Given the description of an element on the screen output the (x, y) to click on. 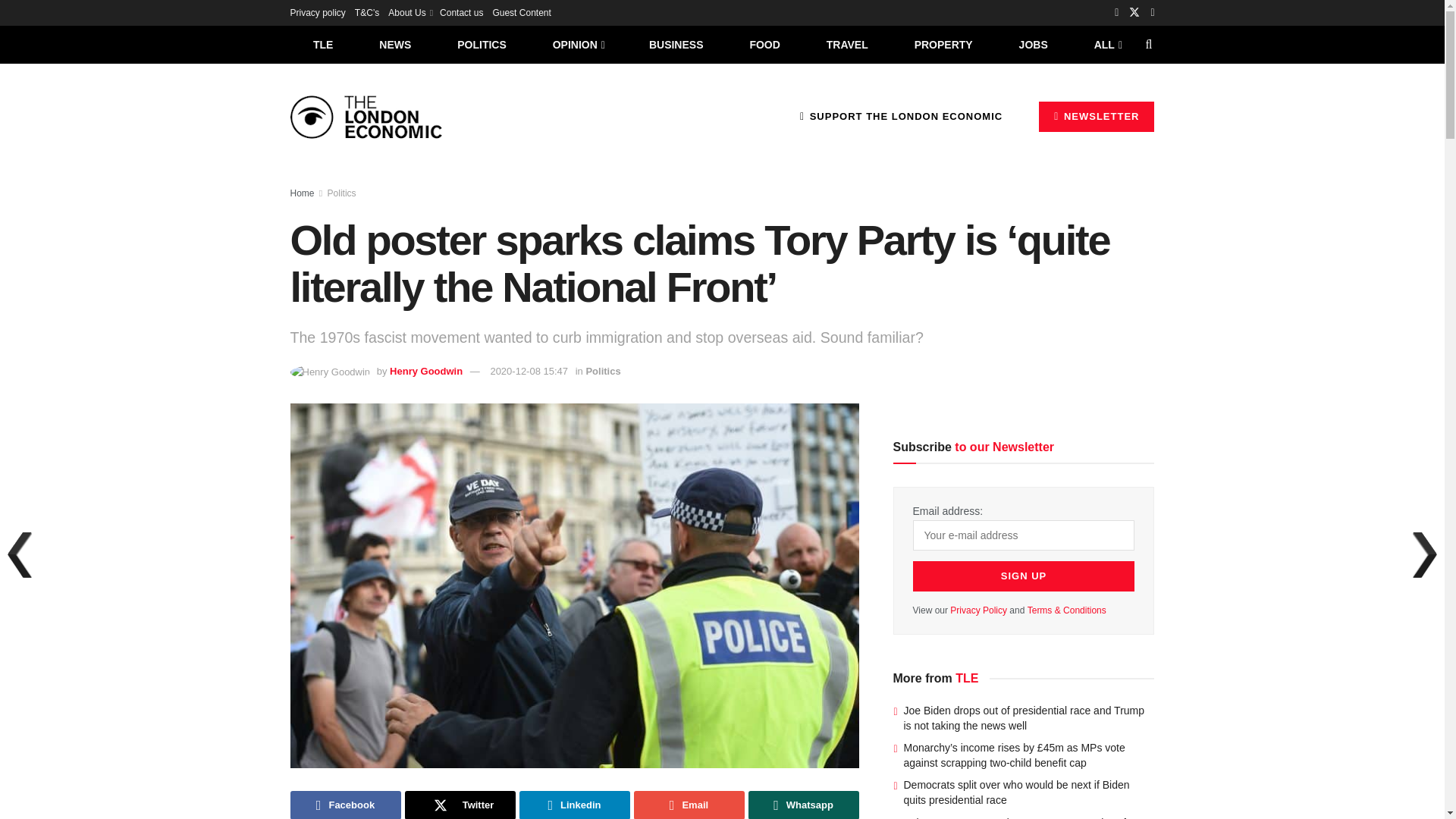
Contact us (461, 12)
About Us (409, 12)
OPINION (577, 44)
POLITICS (481, 44)
Guest Content (521, 12)
FOOD (764, 44)
Privacy policy (317, 12)
TRAVEL (847, 44)
Sign up (1023, 576)
TLE (322, 44)
BUSINESS (676, 44)
ALL (1106, 44)
SUPPORT THE LONDON ECONOMIC (900, 116)
PROPERTY (943, 44)
JOBS (1032, 44)
